Given the description of an element on the screen output the (x, y) to click on. 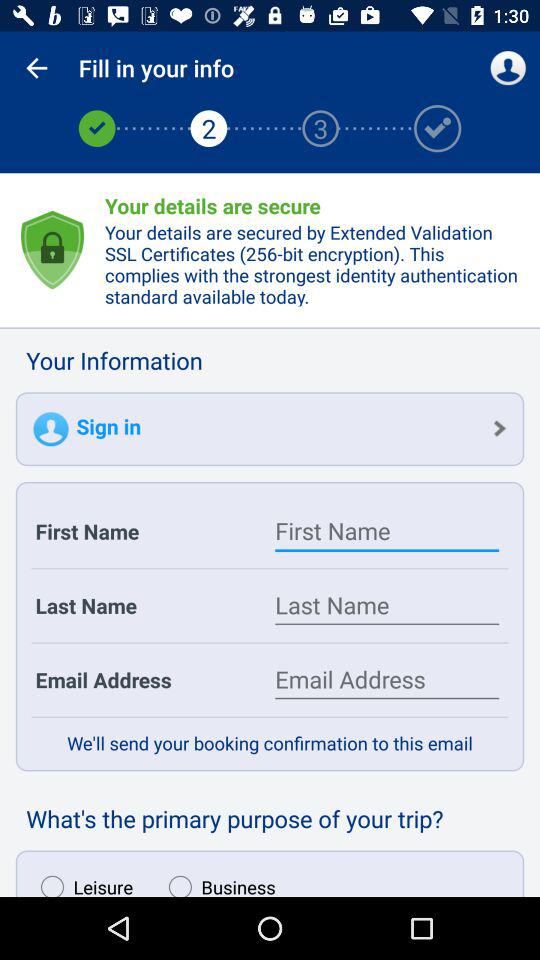
choose leisure item (82, 881)
